Given the description of an element on the screen output the (x, y) to click on. 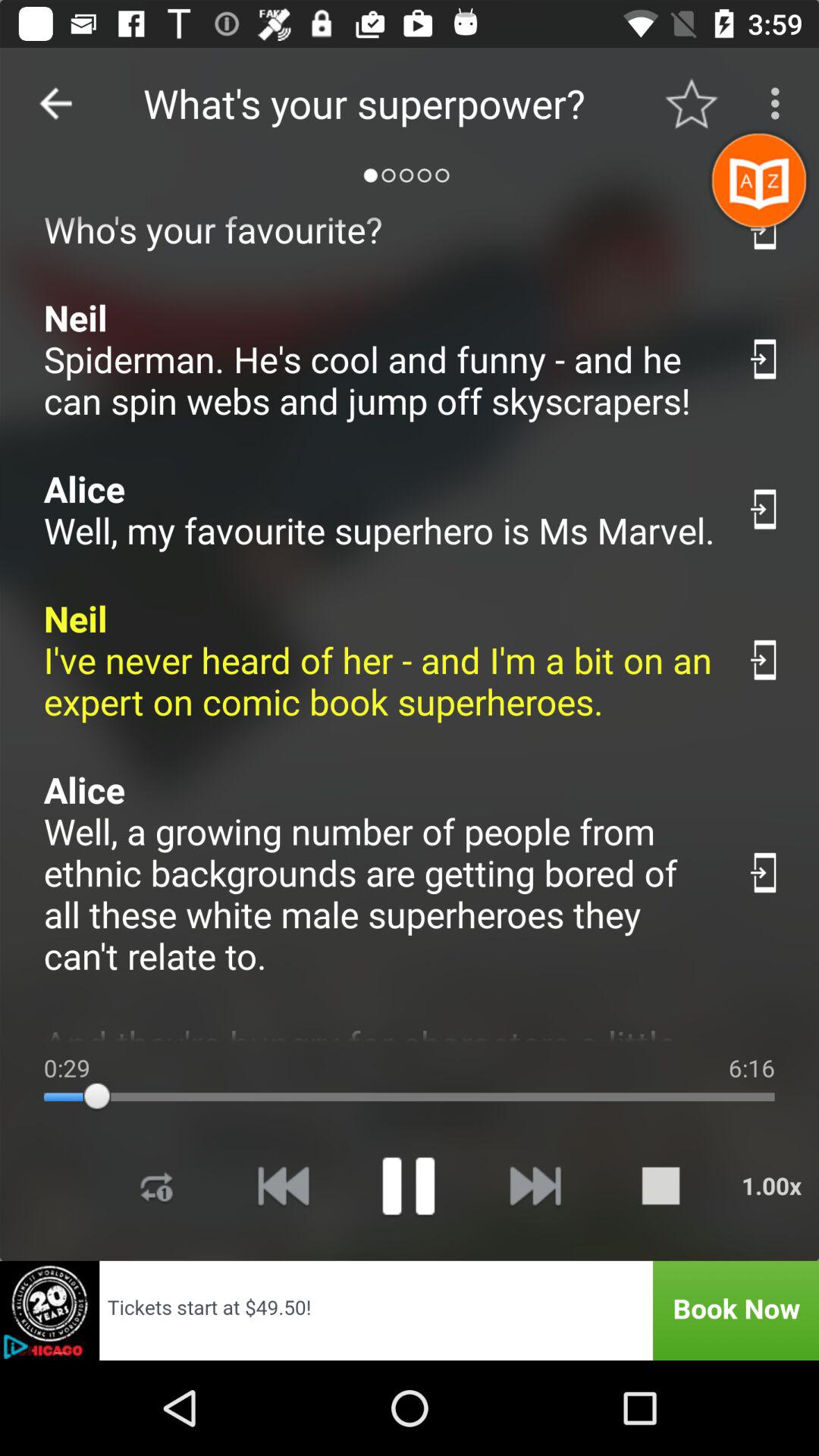
repeat selection (157, 1185)
